Given the description of an element on the screen output the (x, y) to click on. 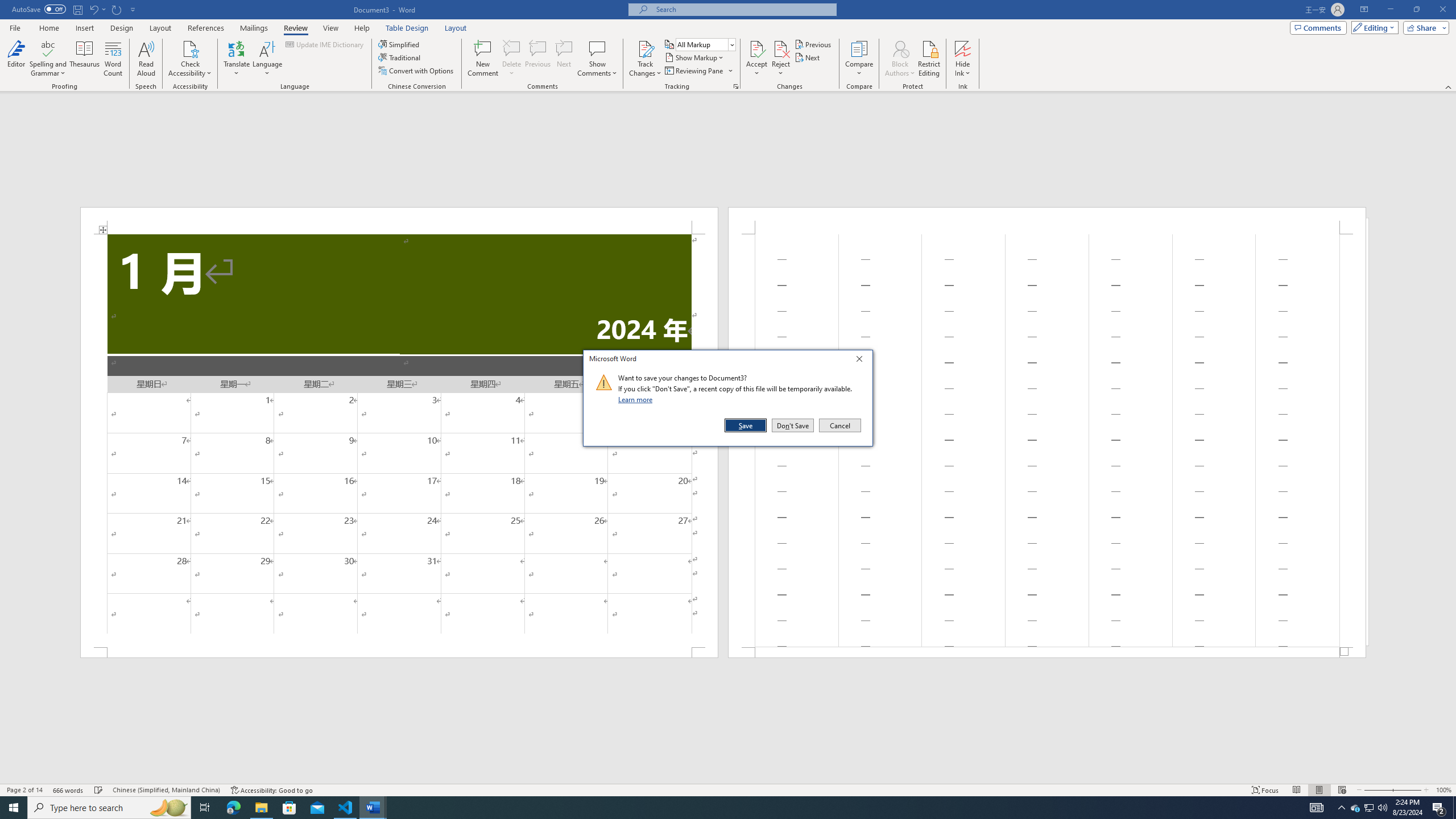
Microsoft search (742, 9)
Class: MsoCommandBar (728, 789)
Track Changes (644, 48)
Page Number Page 2 of 14 (24, 790)
Simplified (400, 44)
Previous (813, 44)
